Given the description of an element on the screen output the (x, y) to click on. 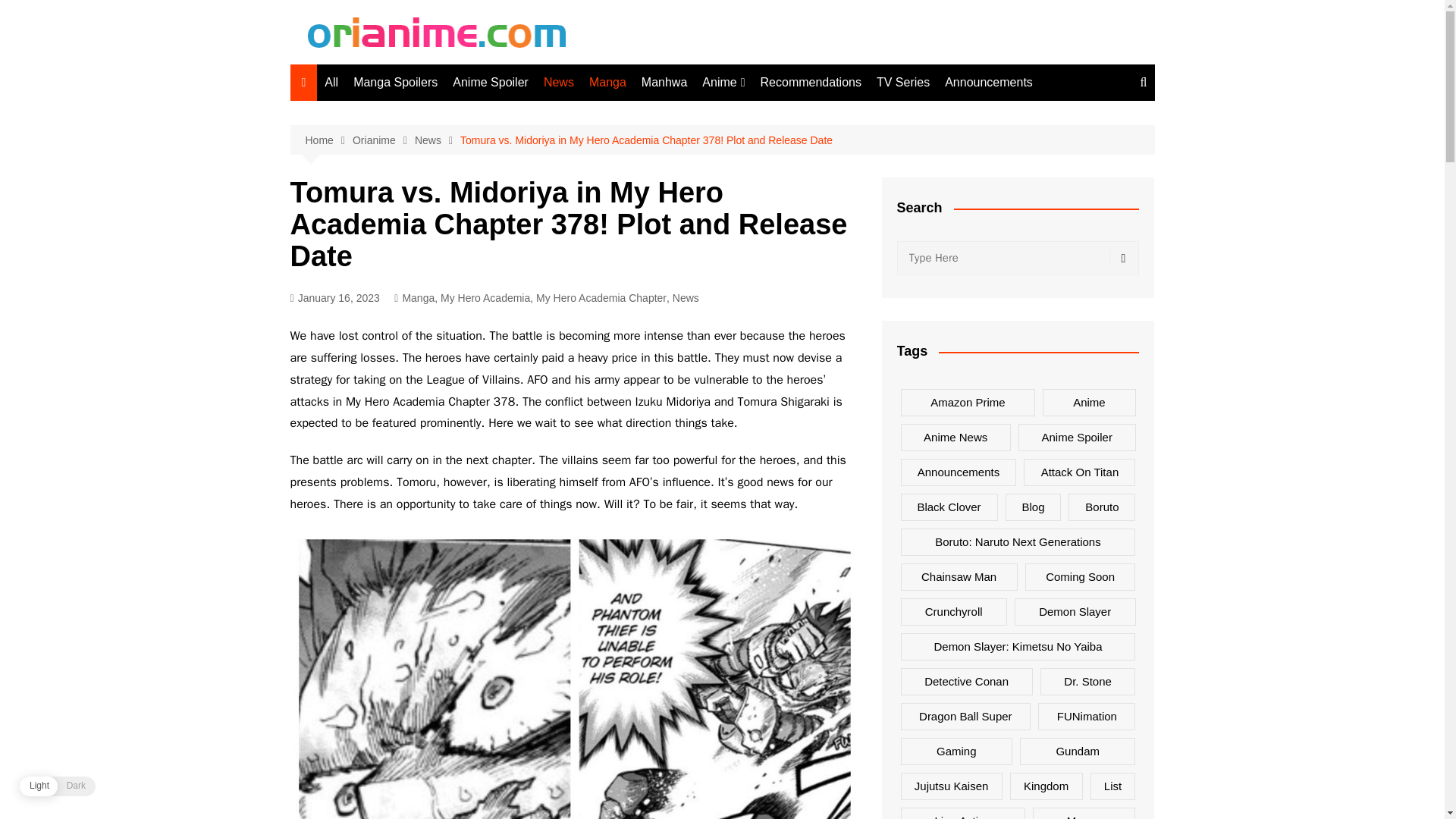
Attack on Titan (777, 263)
Orianime (383, 140)
Anime (723, 82)
My Hero Academia Chapter (600, 297)
Manga (417, 297)
Dragon Ball Super (777, 113)
Jujutsu Kaisen (777, 213)
Demon Slayer (777, 288)
Manhwa (663, 82)
News (557, 82)
Manga Spoilers (395, 82)
January 16, 2023 (333, 298)
Boruto: Naruto Next Generations (777, 320)
Naruto (777, 238)
My Hero Academia (485, 297)
